Given the description of an element on the screen output the (x, y) to click on. 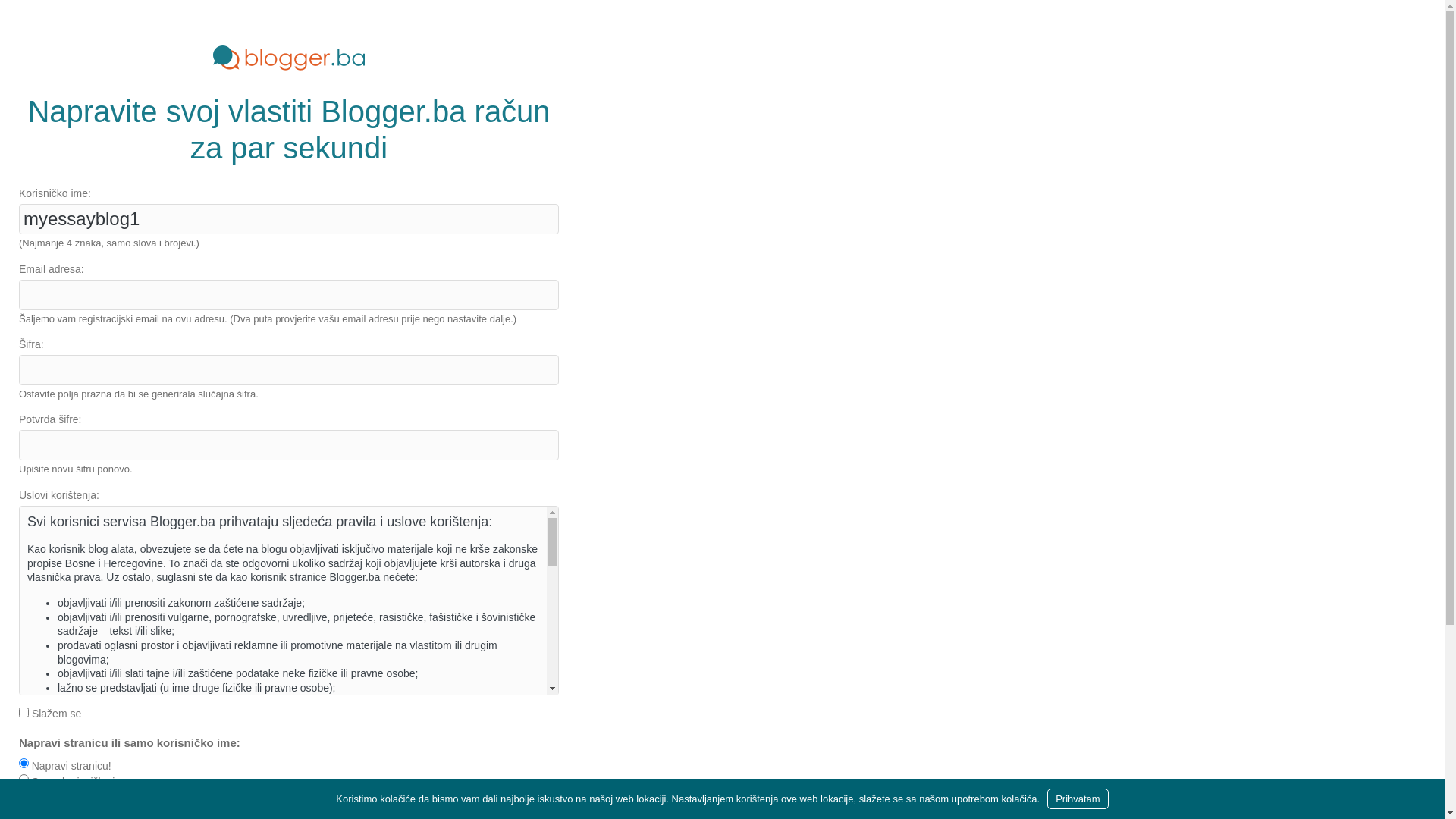
Prihvatam Element type: text (1077, 798)
